Given the description of an element on the screen output the (x, y) to click on. 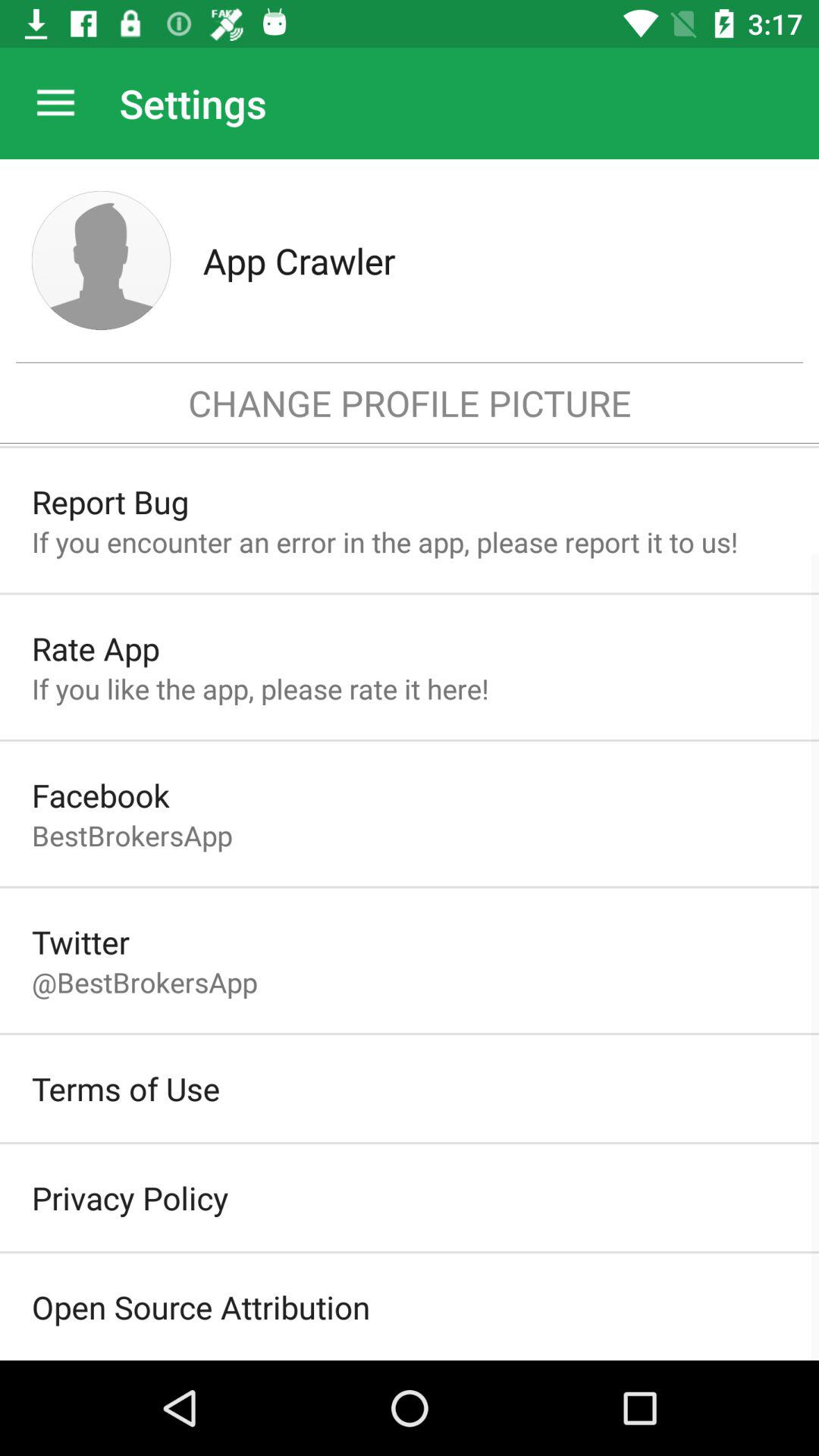
press the app below settings icon (495, 260)
